Given the description of an element on the screen output the (x, y) to click on. 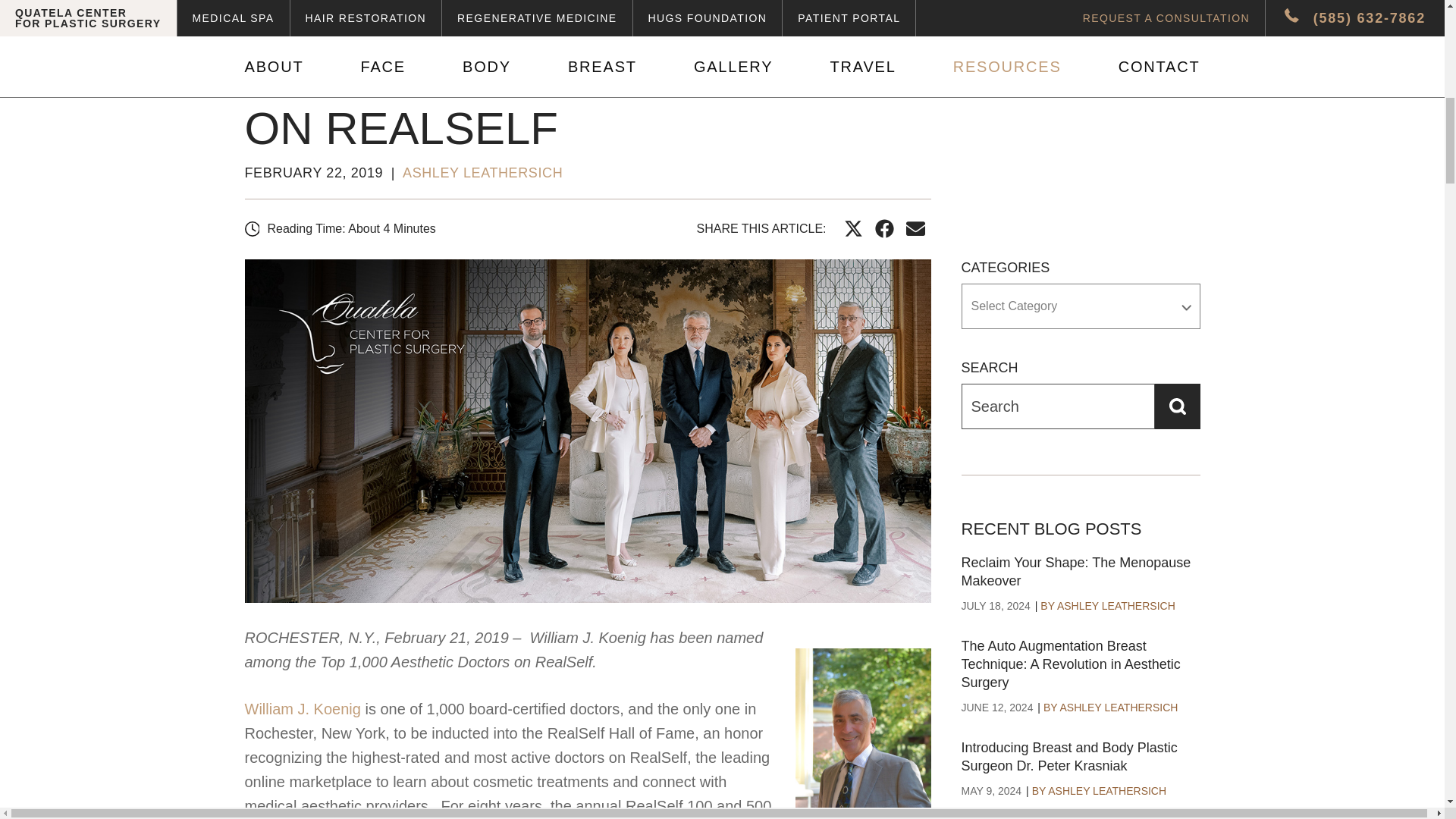
View all posts by Ashley Leathersich (482, 172)
